Given the description of an element on the screen output the (x, y) to click on. 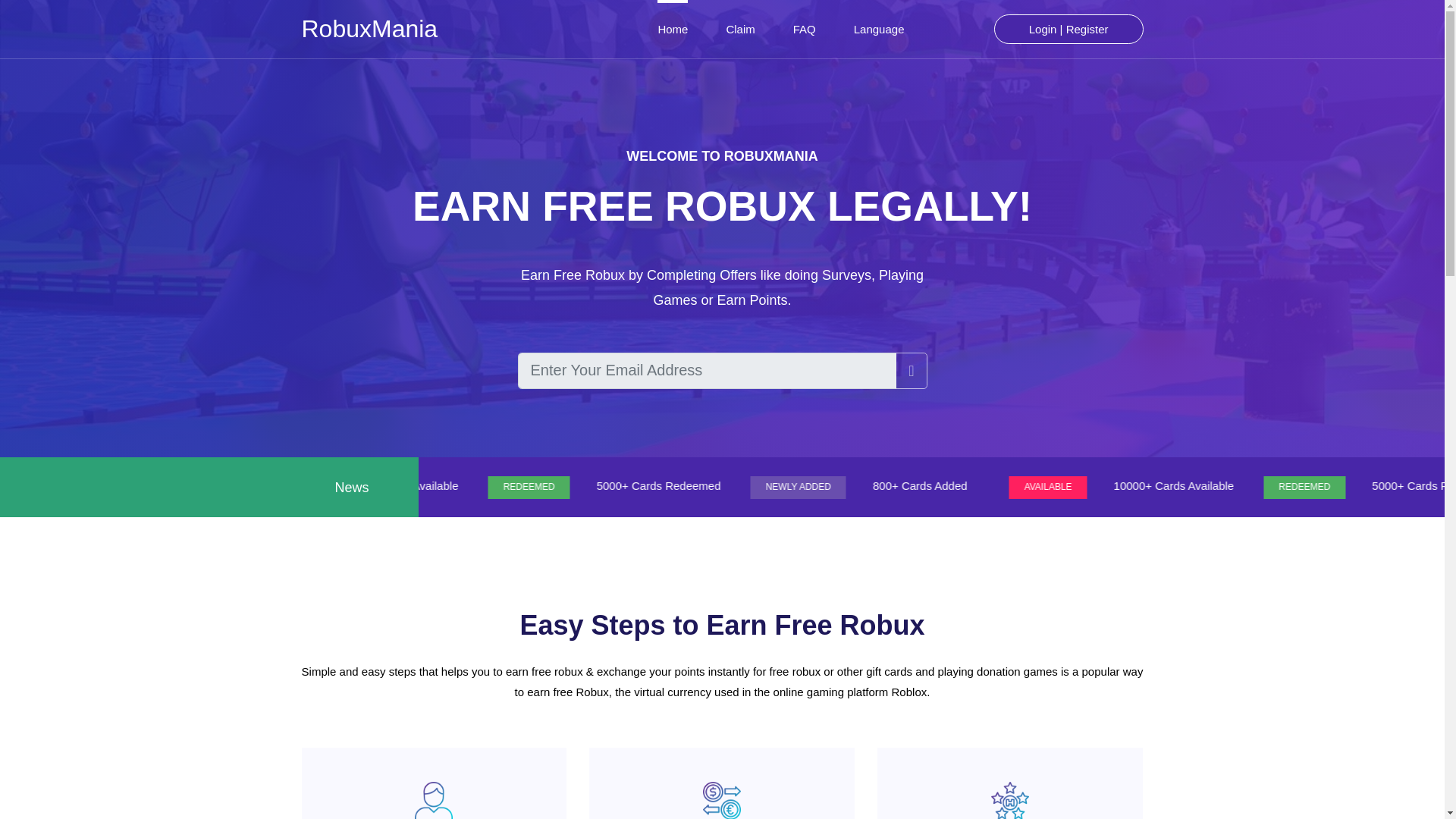
RobuxMania (369, 29)
